Given the description of an element on the screen output the (x, y) to click on. 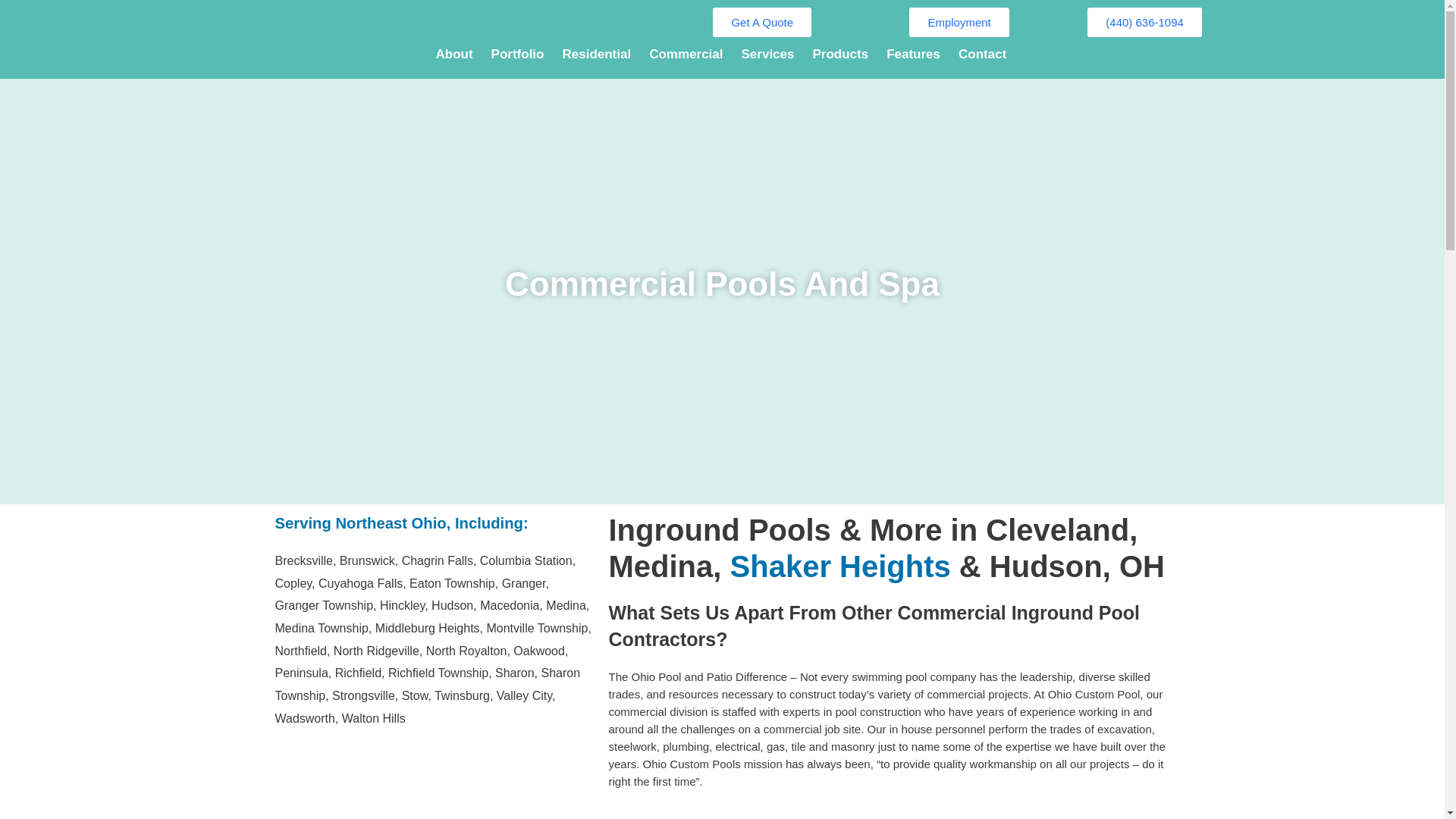
Products (840, 54)
Services (767, 54)
Features (913, 54)
Get A Quote (761, 21)
Portfolio (517, 54)
Residential (596, 54)
Employment (958, 21)
Contact (981, 54)
Commercial (686, 54)
About (453, 54)
